Given the description of an element on the screen output the (x, y) to click on. 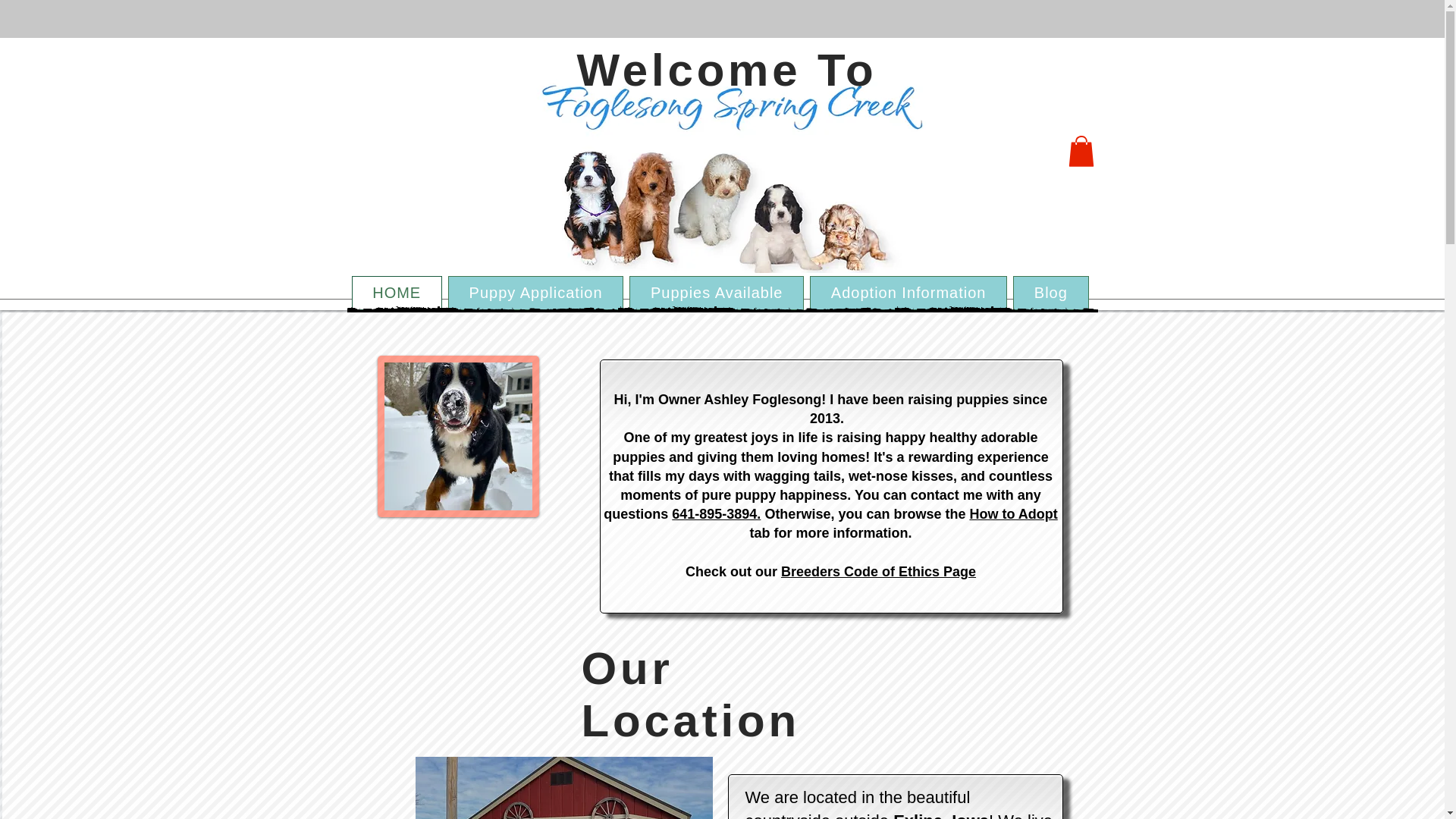
Breeders Code of Ethics Page (877, 571)
How to Adopt (1013, 513)
Puppies Available (715, 293)
HOME (397, 293)
Blog (1050, 293)
Puppy Application (535, 293)
